Given the description of an element on the screen output the (x, y) to click on. 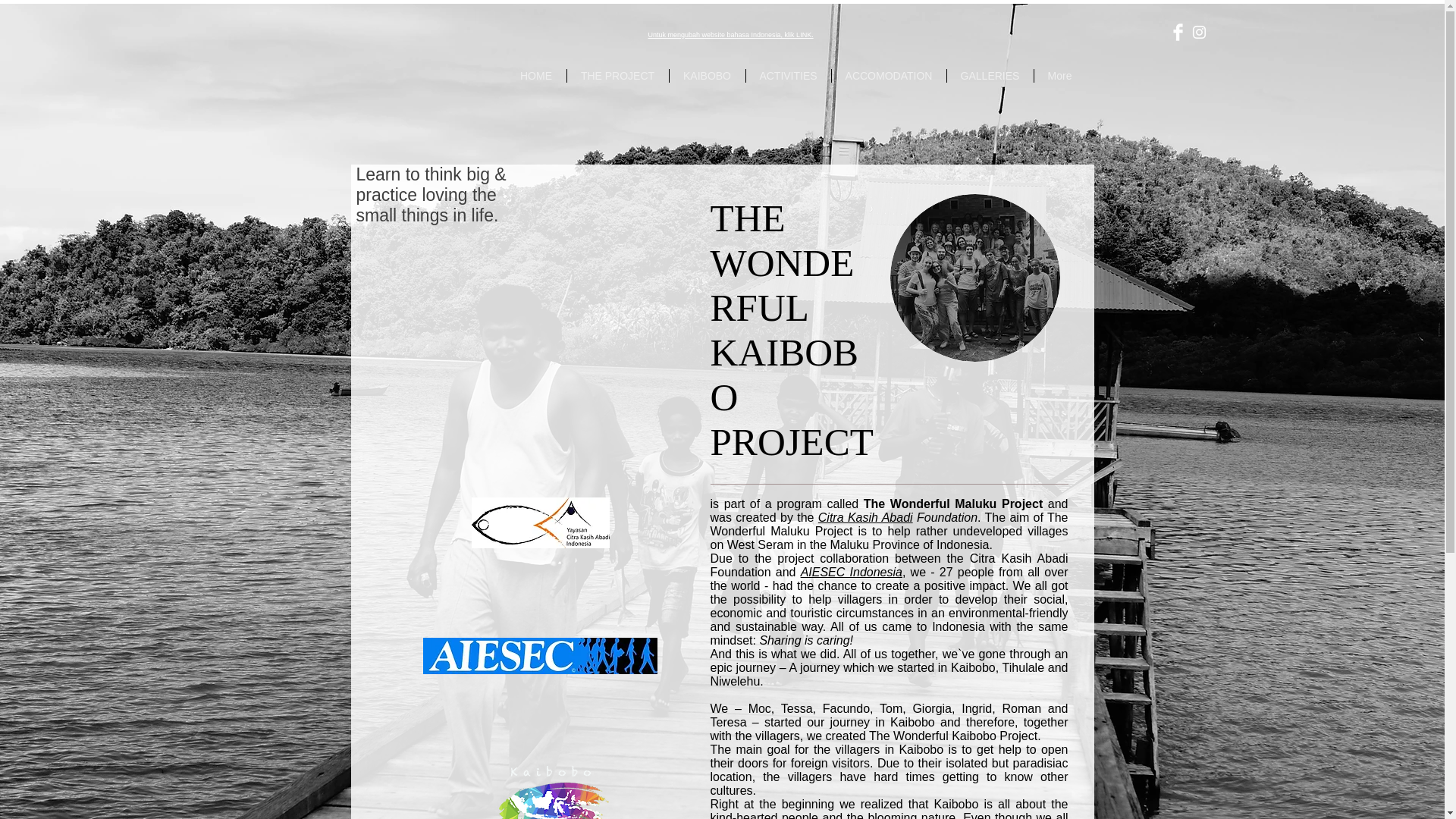
The Wonderful Maluku Project (540, 656)
AIESEC Indonesia (851, 571)
The Wonderful Maluku Project (974, 277)
Citra Kasih Abadi (865, 517)
ACCOMODATION (887, 75)
Untuk mengubah website bahasa Indonesia, klik LINK. (729, 34)
The Wonderful Maluku Project (548, 783)
ACTIVITIES (788, 75)
The Wonderful Maluku Project (540, 522)
HOME (536, 75)
